Given the description of an element on the screen output the (x, y) to click on. 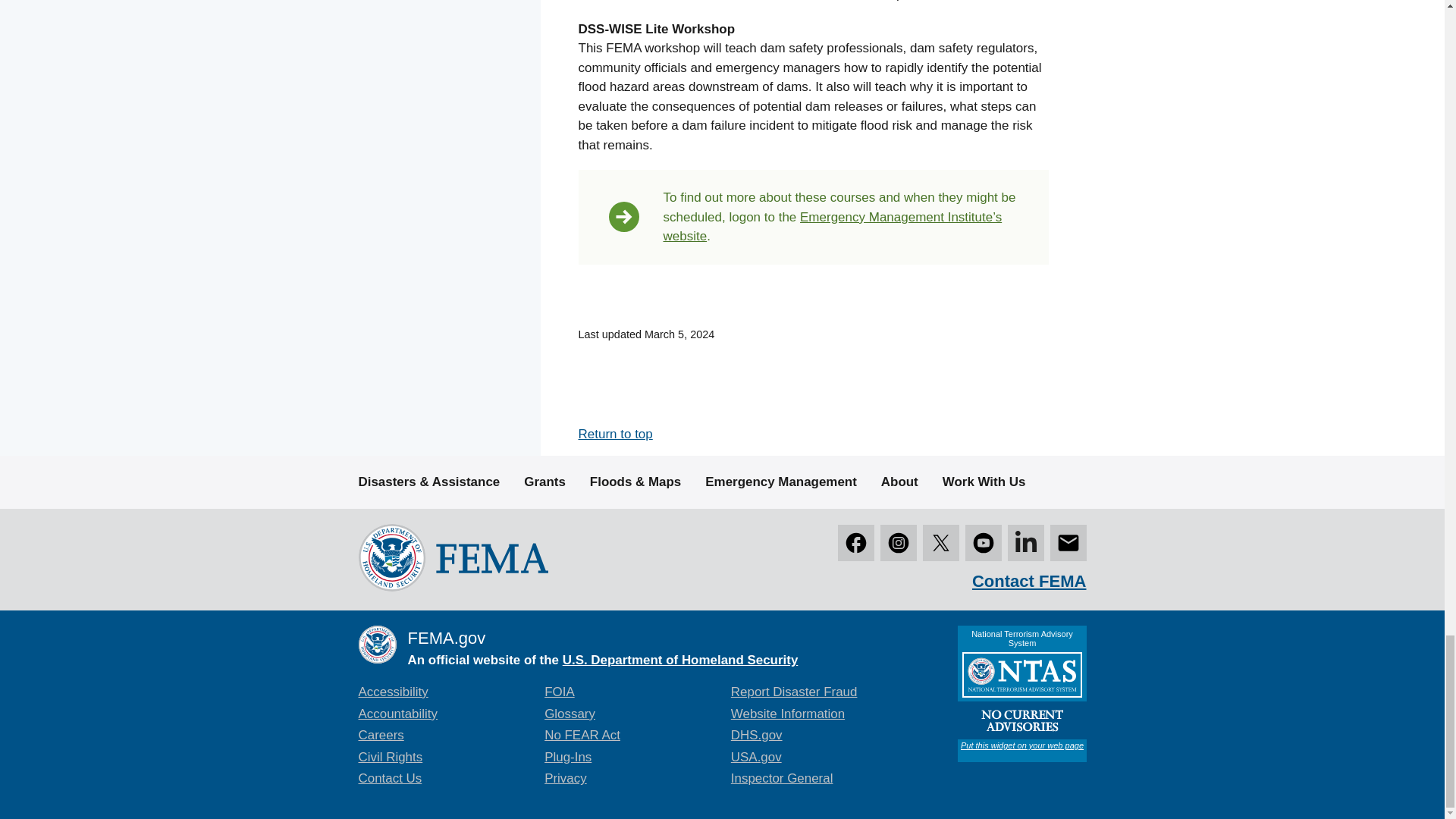
FEMA logo (452, 557)
Tuesday, March 5, 2024 - 19:17 (679, 334)
National Terrorism Advisory System (1021, 693)
